Given the description of an element on the screen output the (x, y) to click on. 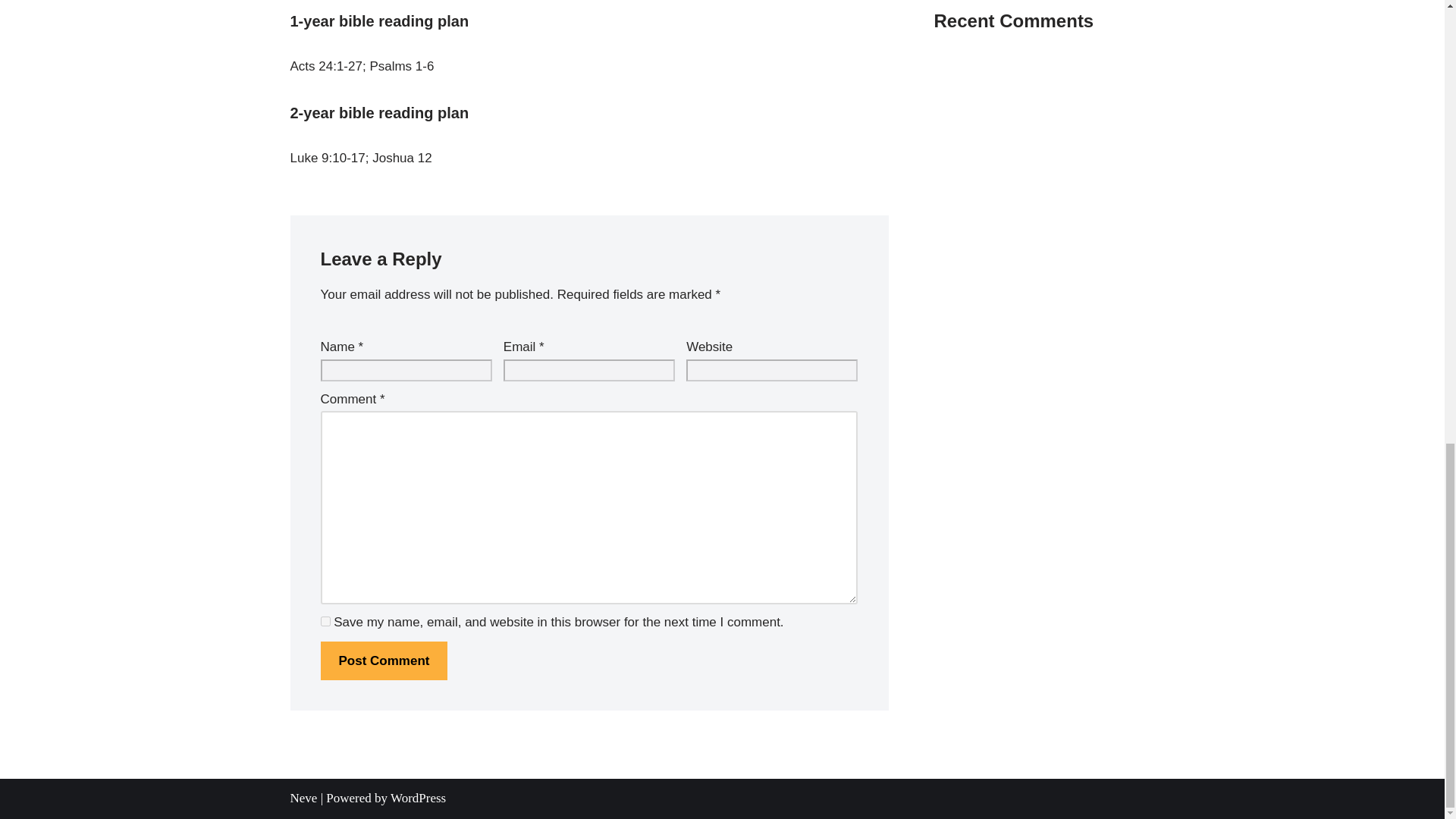
Post Comment (383, 660)
yes (325, 621)
WordPress (417, 798)
Neve (303, 798)
Post Comment (383, 660)
